Given the description of an element on the screen output the (x, y) to click on. 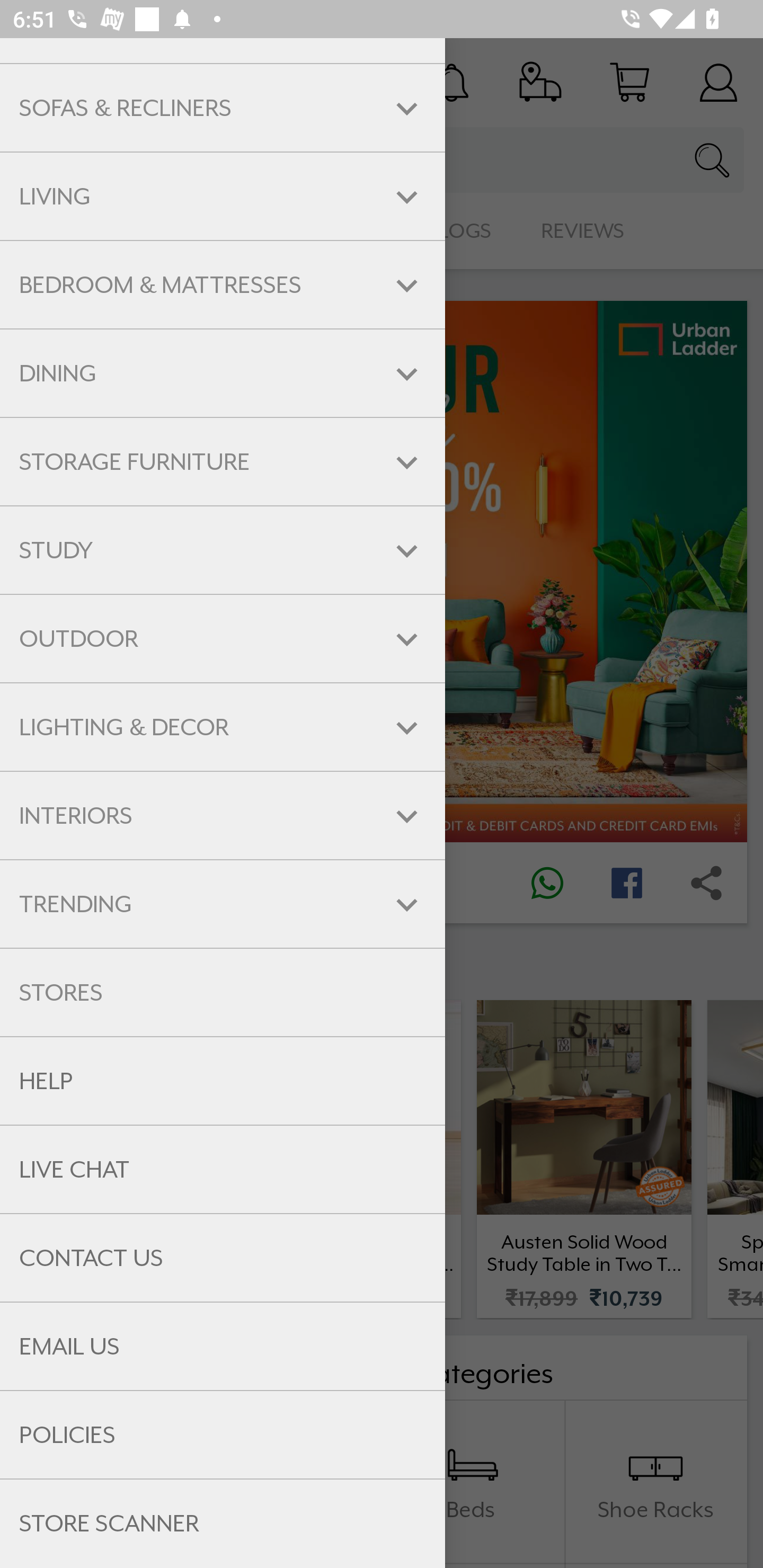
SOFAS & RECLINERS  (222, 108)
LIVING  (222, 196)
BEDROOM & MATTRESSES  (222, 284)
DINING  (222, 373)
STORAGE FURNITURE  (222, 461)
STUDY  (222, 550)
OUTDOOR  (222, 638)
LIGHTING & DECOR  (222, 726)
INTERIORS  (222, 815)
TRENDING  (222, 903)
STORES (222, 992)
HELP (222, 1080)
LIVE CHAT (222, 1169)
CONTACT US (222, 1258)
EMAIL US (222, 1345)
POLICIES (222, 1435)
STORE SCANNER (222, 1523)
